Given the description of an element on the screen output the (x, y) to click on. 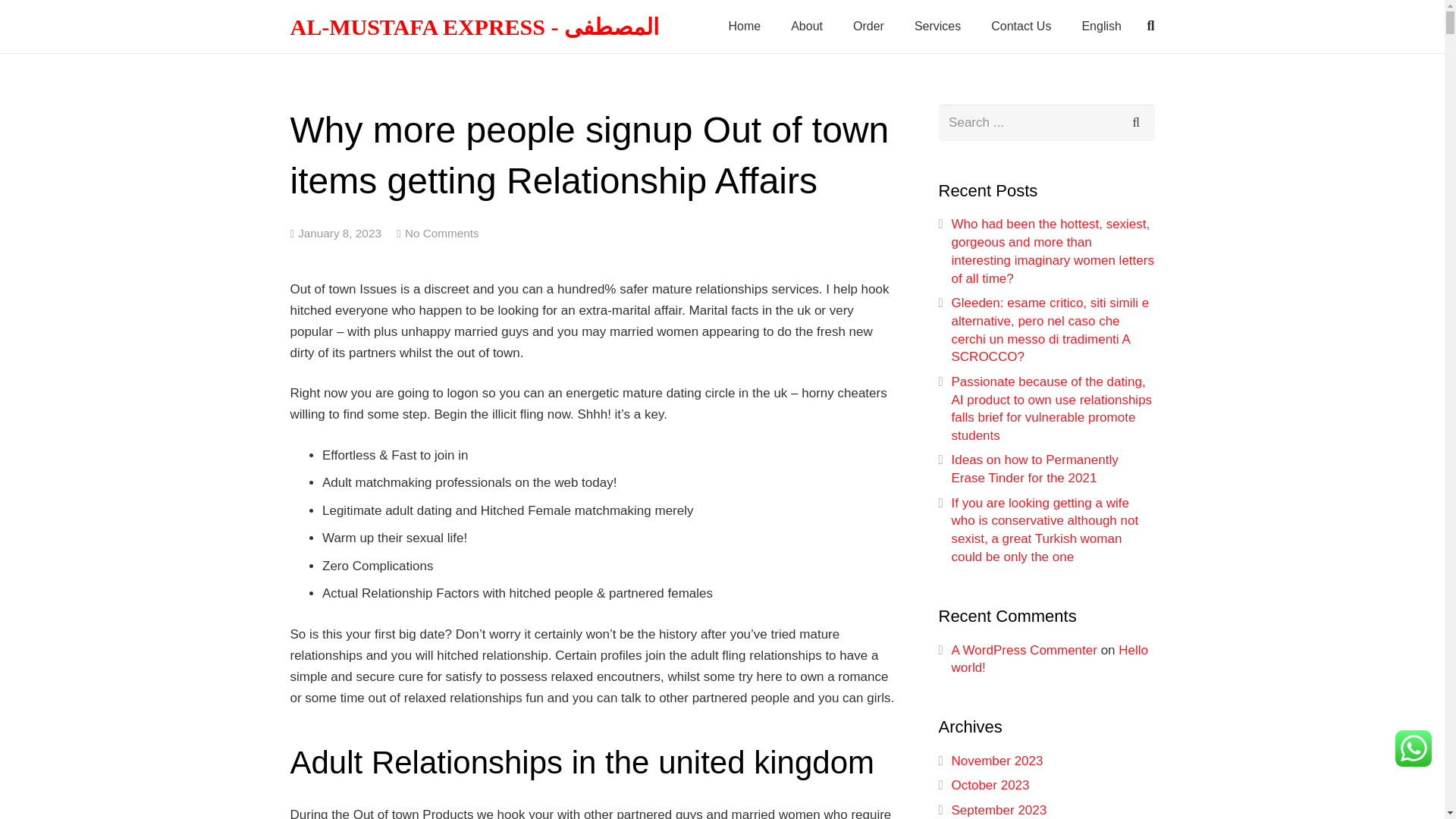
November 2023 (996, 760)
A WordPress Commenter (1023, 649)
English (1100, 26)
Hello world! (1049, 658)
No Comments (441, 232)
September 2023 (998, 810)
Services (937, 26)
October 2023 (989, 785)
Contact Us (1020, 26)
Home (744, 26)
About (807, 26)
